Given the description of an element on the screen output the (x, y) to click on. 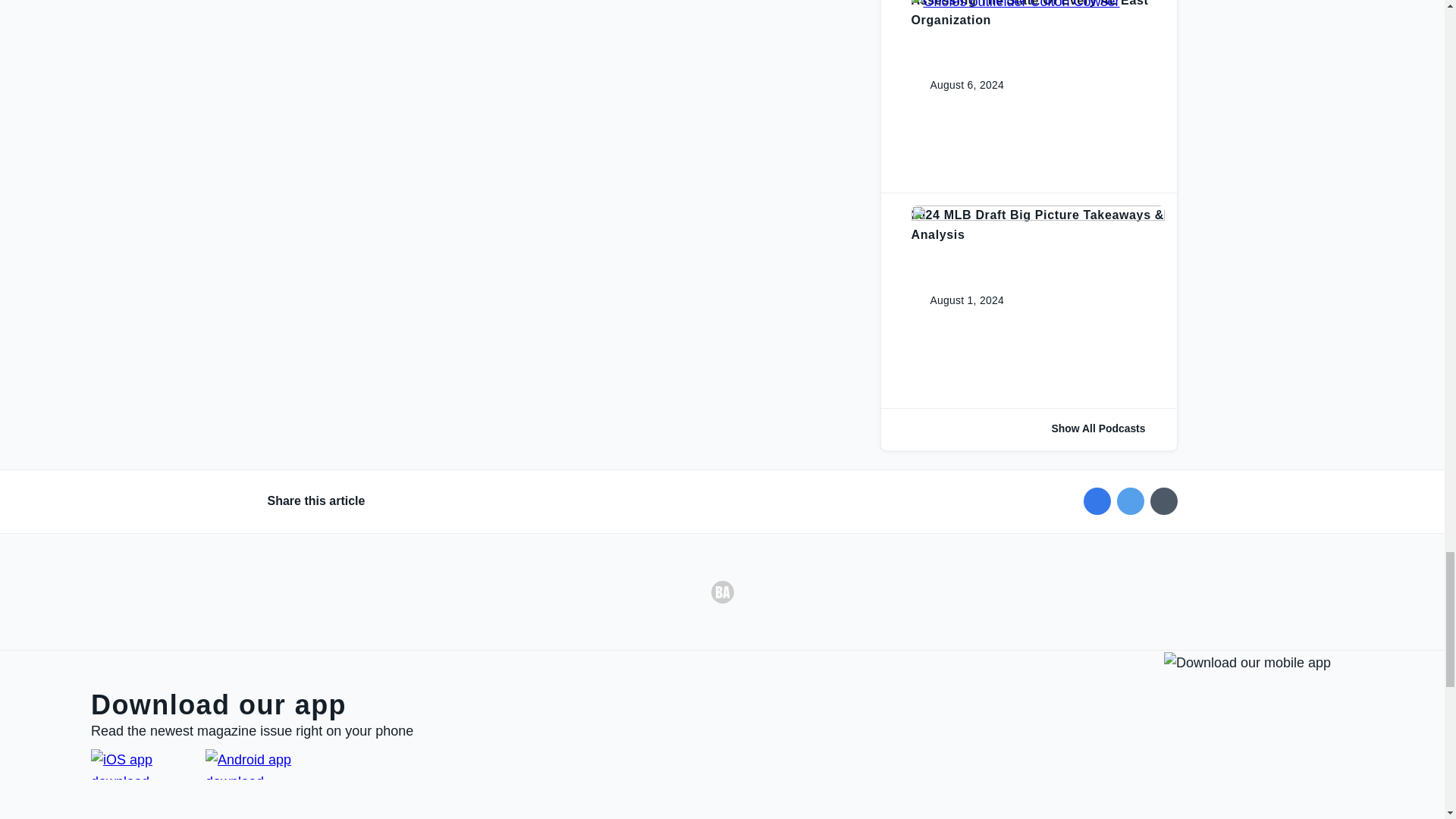
Share on Facebook (1096, 501)
Share on Twitter (1129, 501)
Share via email (1163, 501)
